Given the description of an element on the screen output the (x, y) to click on. 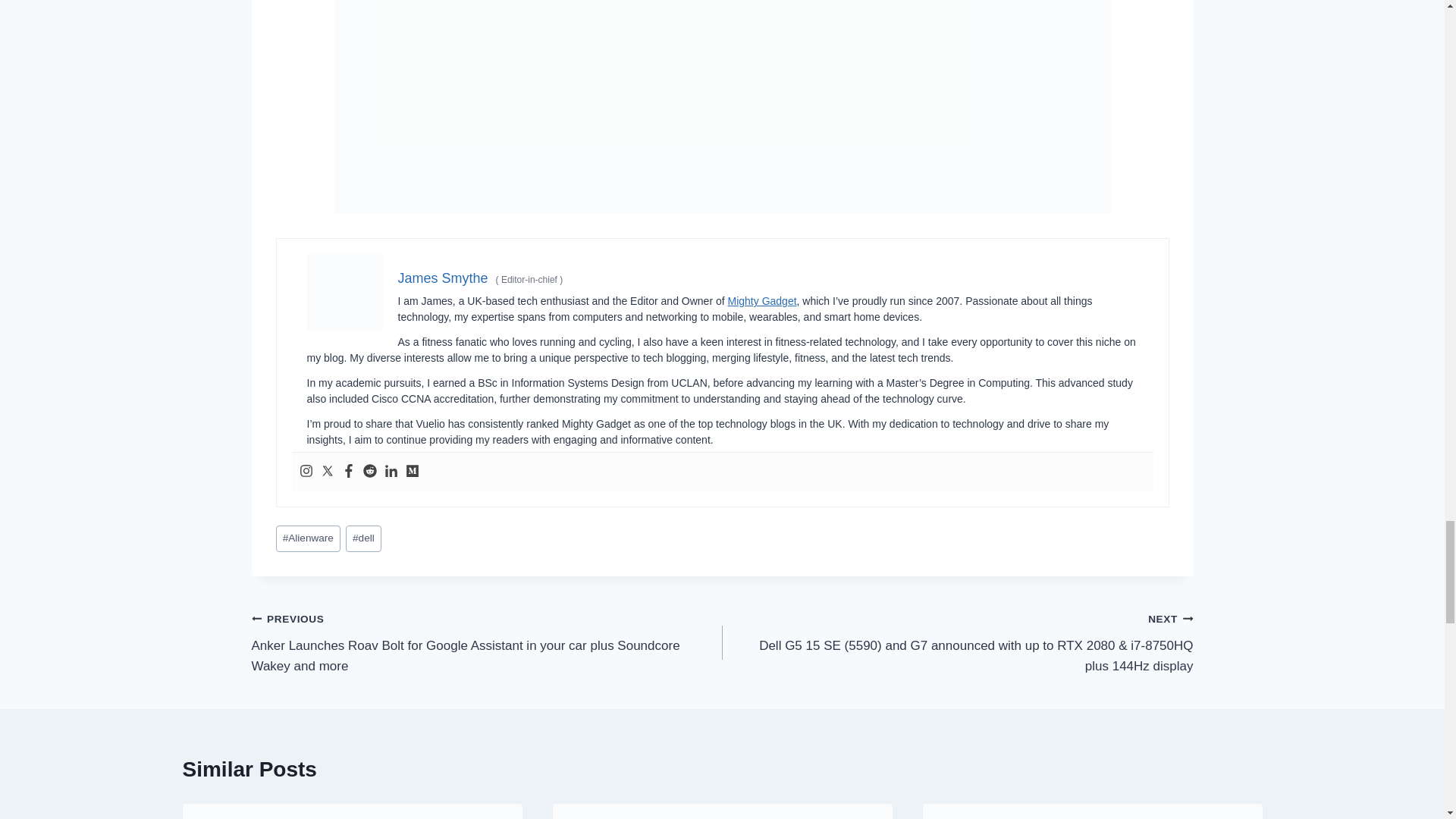
Mighty Gadget (762, 300)
Instagram (305, 471)
Twitter (326, 471)
James Smythe (442, 278)
6658afeebfcb2c289ed52f37daf69159 (343, 291)
